Given the description of an element on the screen output the (x, y) to click on. 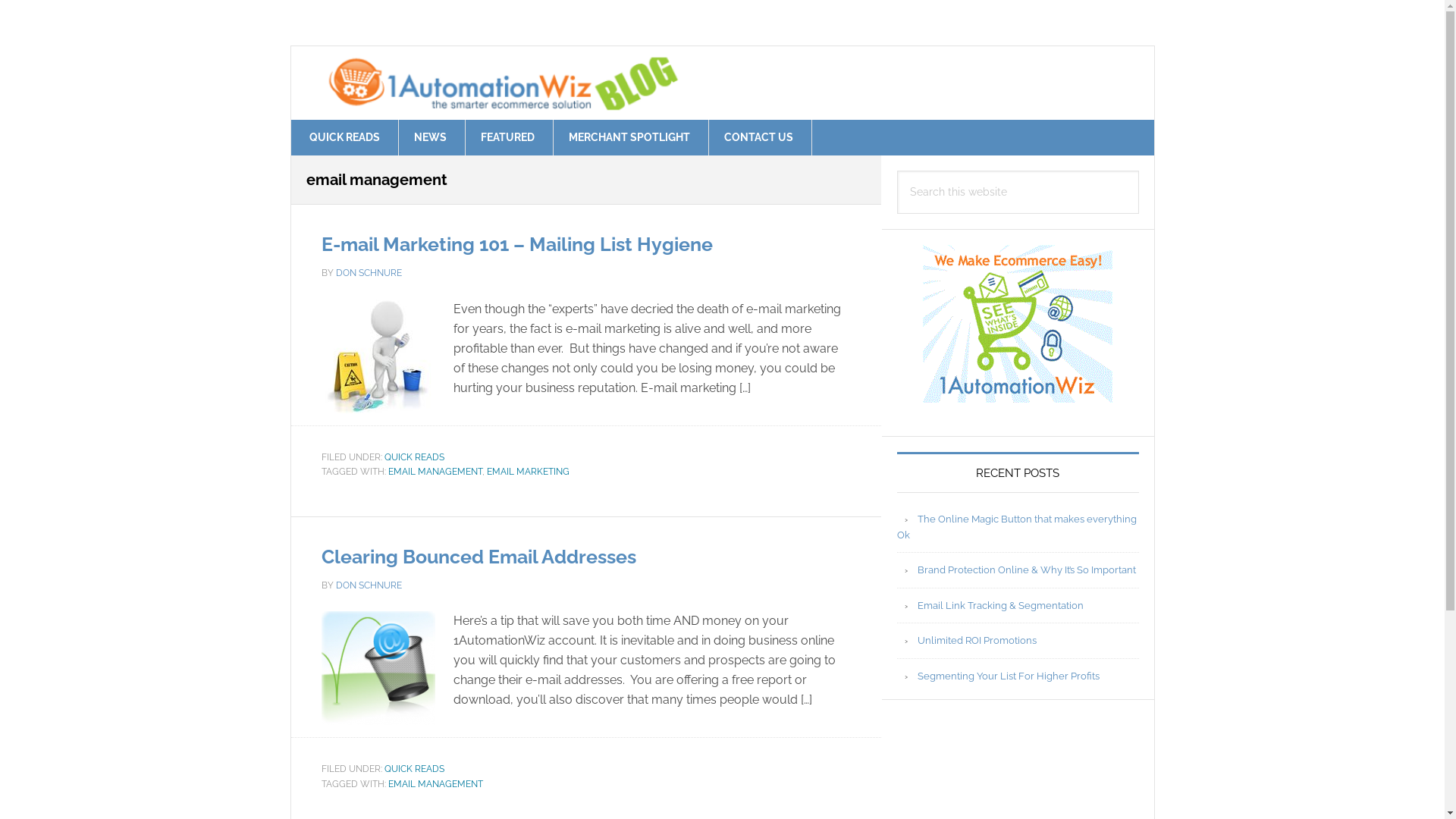
EMAIL MANAGEMENT Element type: text (435, 471)
Email Link Tracking & Segmentation Element type: text (1000, 605)
The Online Magic Button that makes everything Ok Element type: text (1015, 527)
MERCHANT SPOTLIGHT Element type: text (629, 137)
DON SCHNURE Element type: text (368, 272)
NEWS Element type: text (430, 137)
Skip to primary navigation Element type: text (0, 0)
DON SCHNURE Element type: text (368, 584)
EMAIL MARKETING Element type: text (527, 471)
EMAIL MANAGEMENT Element type: text (435, 783)
Segmenting Your List For Higher Profits Element type: text (1008, 675)
CONTACT US Element type: text (758, 137)
Clearing Bounced Email Addresses Element type: text (478, 555)
QUICK READS Element type: text (413, 768)
FEATURED Element type: text (507, 137)
QUICK READS Element type: text (413, 456)
QUICK READS Element type: text (344, 137)
1AUTOMATIONWIZ ECOMMERCE SOLUTIONS Element type: text (722, 81)
Unlimited ROI Promotions Element type: text (976, 640)
Search Element type: text (1139, 169)
